Given the description of an element on the screen output the (x, y) to click on. 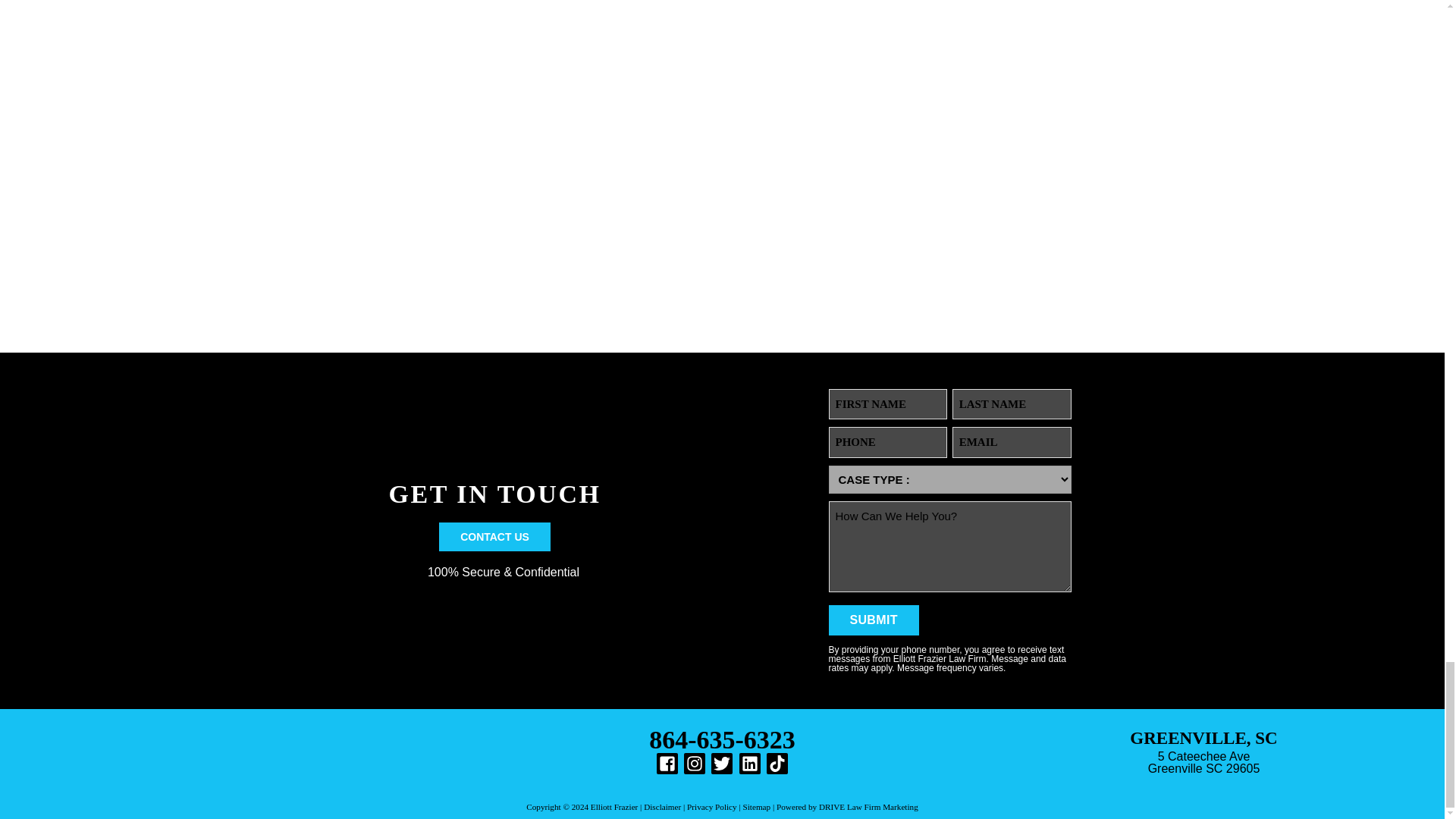
Twitter (721, 762)
TikTok (777, 762)
LinkedIn (749, 762)
Facebook (667, 762)
Instagram (694, 762)
